Given the description of an element on the screen output the (x, y) to click on. 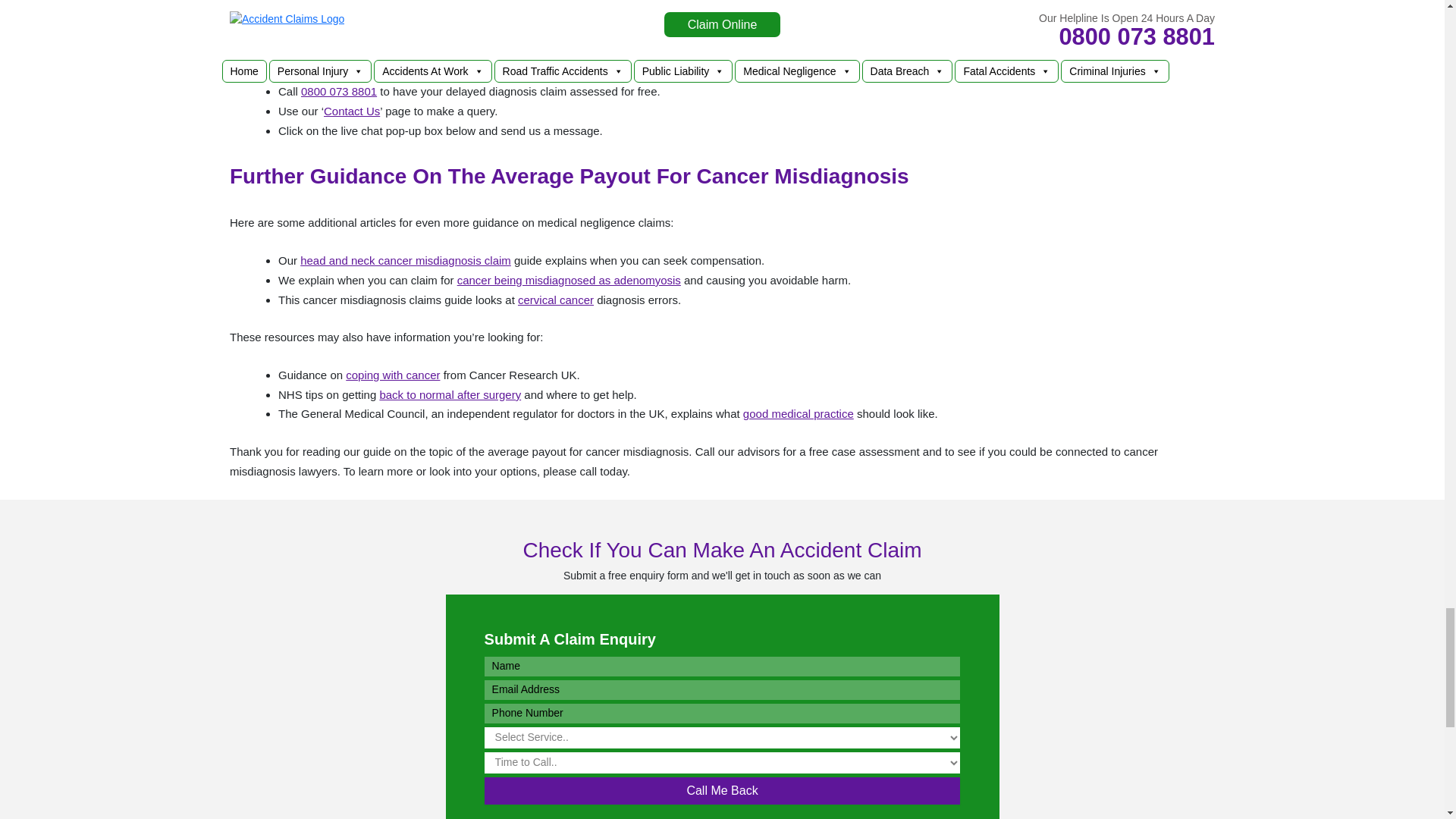
Call Me Back (722, 790)
